Given the description of an element on the screen output the (x, y) to click on. 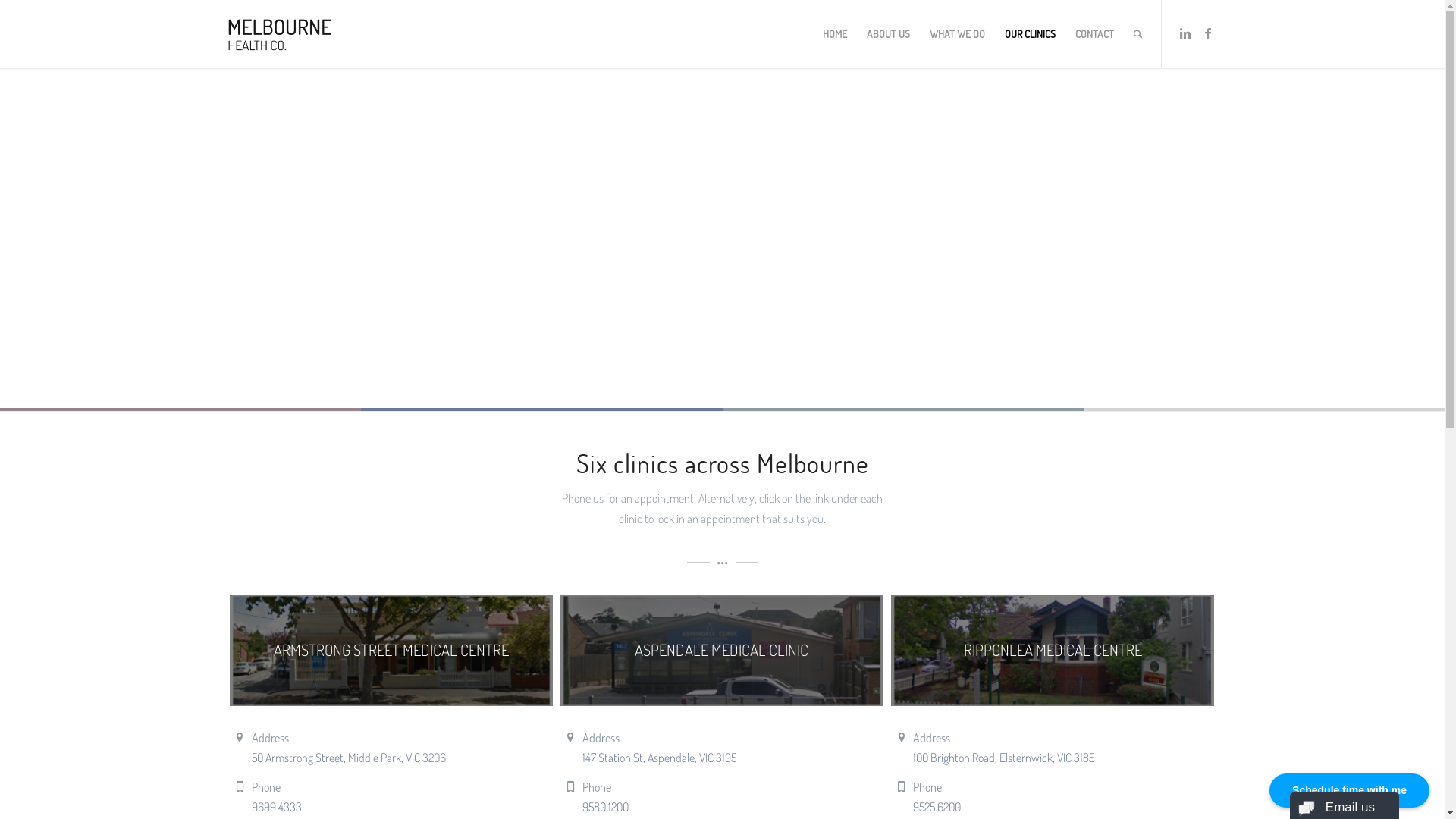
middlepark Element type: hover (390, 650)
WHAT WE DO Element type: text (956, 34)
ABOUT US Element type: text (887, 34)
Linkedin Element type: hover (1184, 32)
Facebook Element type: hover (1207, 32)
Aspendale Element type: hover (721, 650)
HOME Element type: text (834, 34)
OUR CLINICS Element type: text (1029, 34)
brighton Element type: hover (1052, 650)
CONTACT Element type: text (1093, 34)
